Given the description of an element on the screen output the (x, y) to click on. 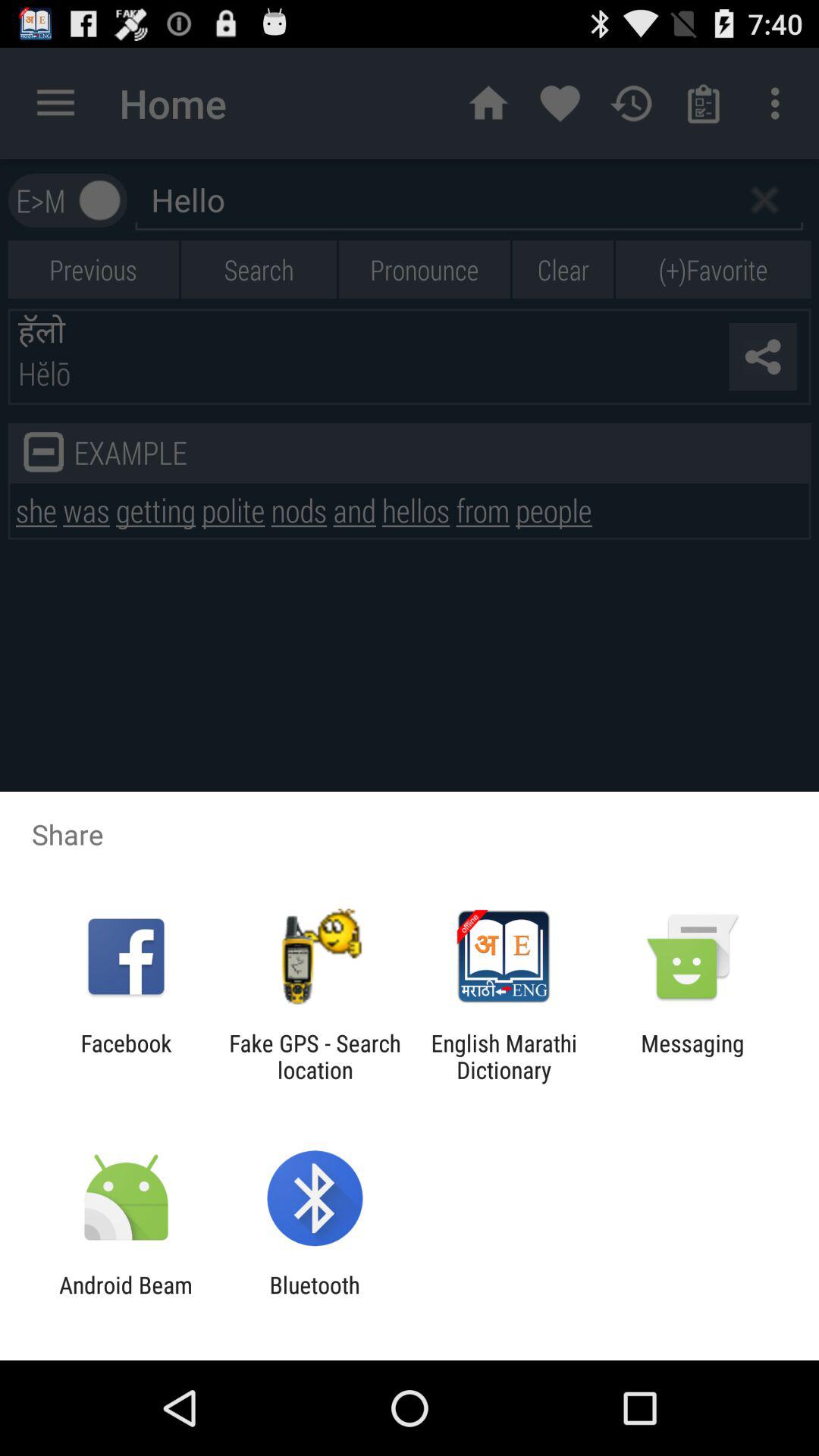
open the item next to messaging app (503, 1056)
